Given the description of an element on the screen output the (x, y) to click on. 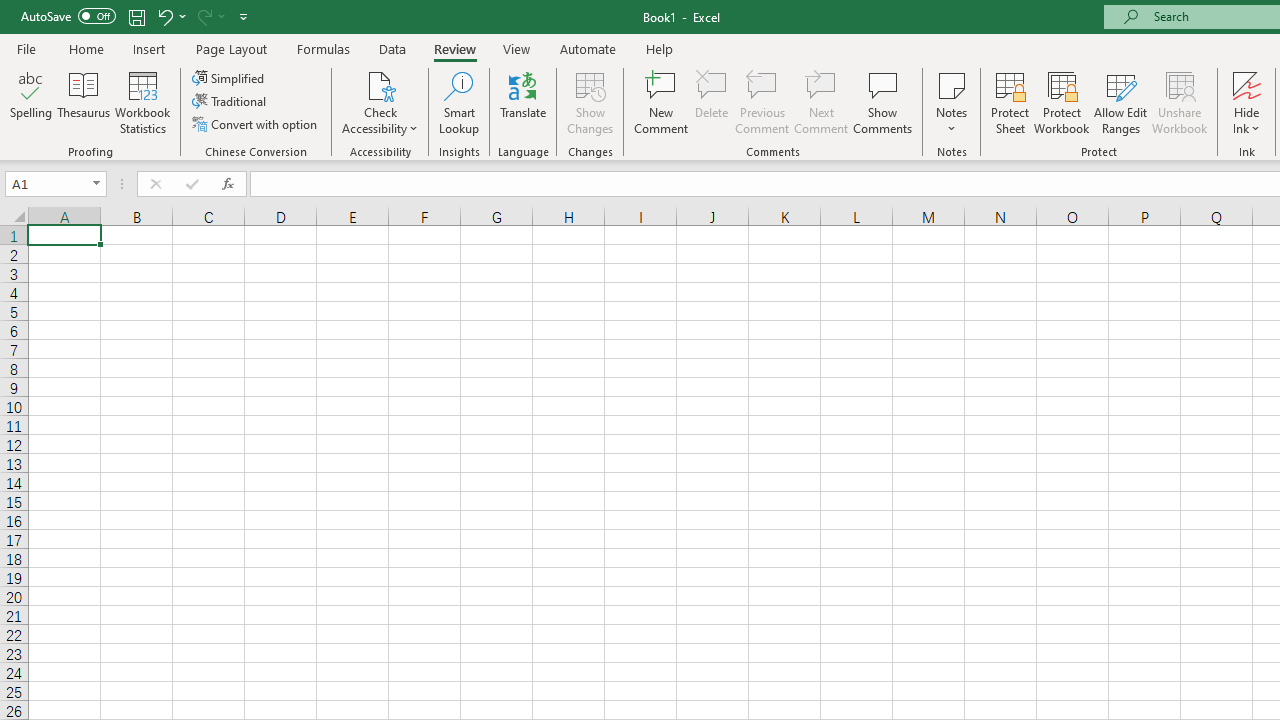
Notes (951, 102)
